Given the description of an element on the screen output the (x, y) to click on. 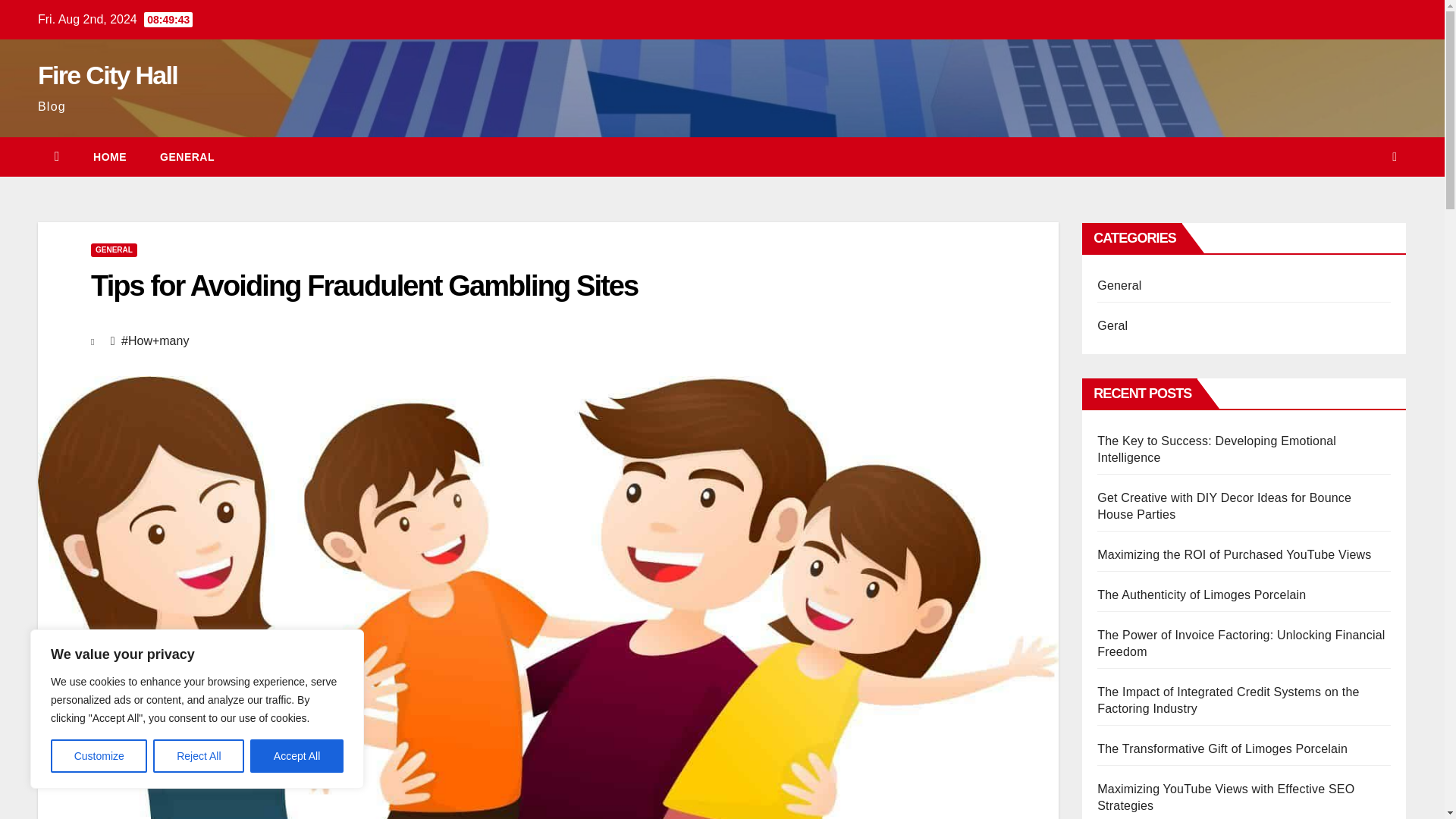
HOME (109, 156)
Permalink to: Tips for Avoiding Fraudulent Gambling Sites (363, 286)
GENERAL (113, 250)
Accept All (296, 756)
GENERAL (186, 156)
General (186, 156)
Home (109, 156)
Fire City Hall (107, 74)
Tips for Avoiding Fraudulent Gambling Sites (363, 286)
Reject All (198, 756)
Customize (98, 756)
